Given the description of an element on the screen output the (x, y) to click on. 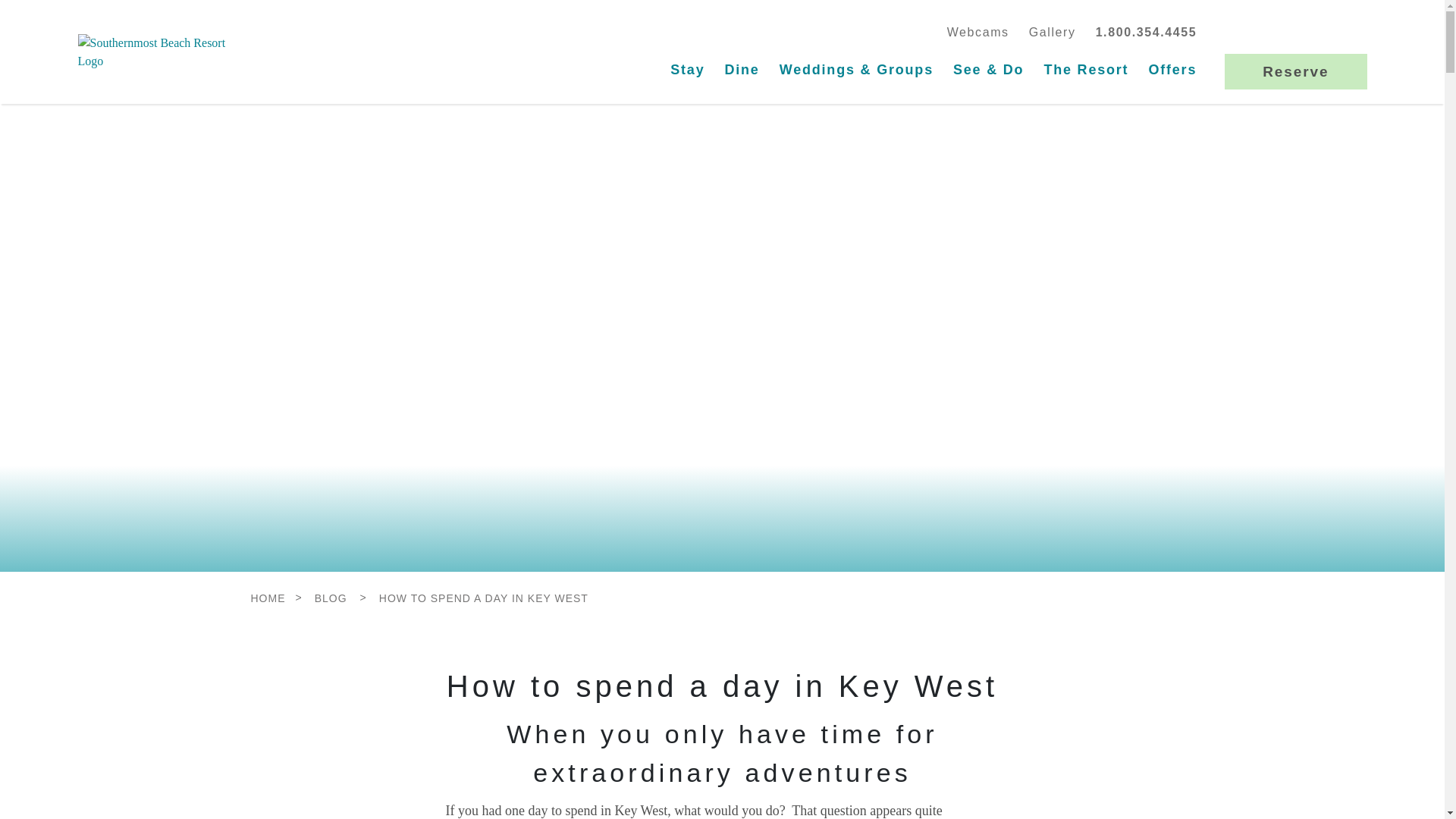
1.800.354.4455 (1146, 32)
Webcams (977, 32)
Offers (1171, 70)
Reserve (1295, 71)
Skip to main content (37, 11)
Stay (687, 70)
Gallery (1052, 32)
The Resort (1085, 70)
Visit the Southernmost Beach Resort Website (157, 51)
Dine (741, 70)
